Given the description of an element on the screen output the (x, y) to click on. 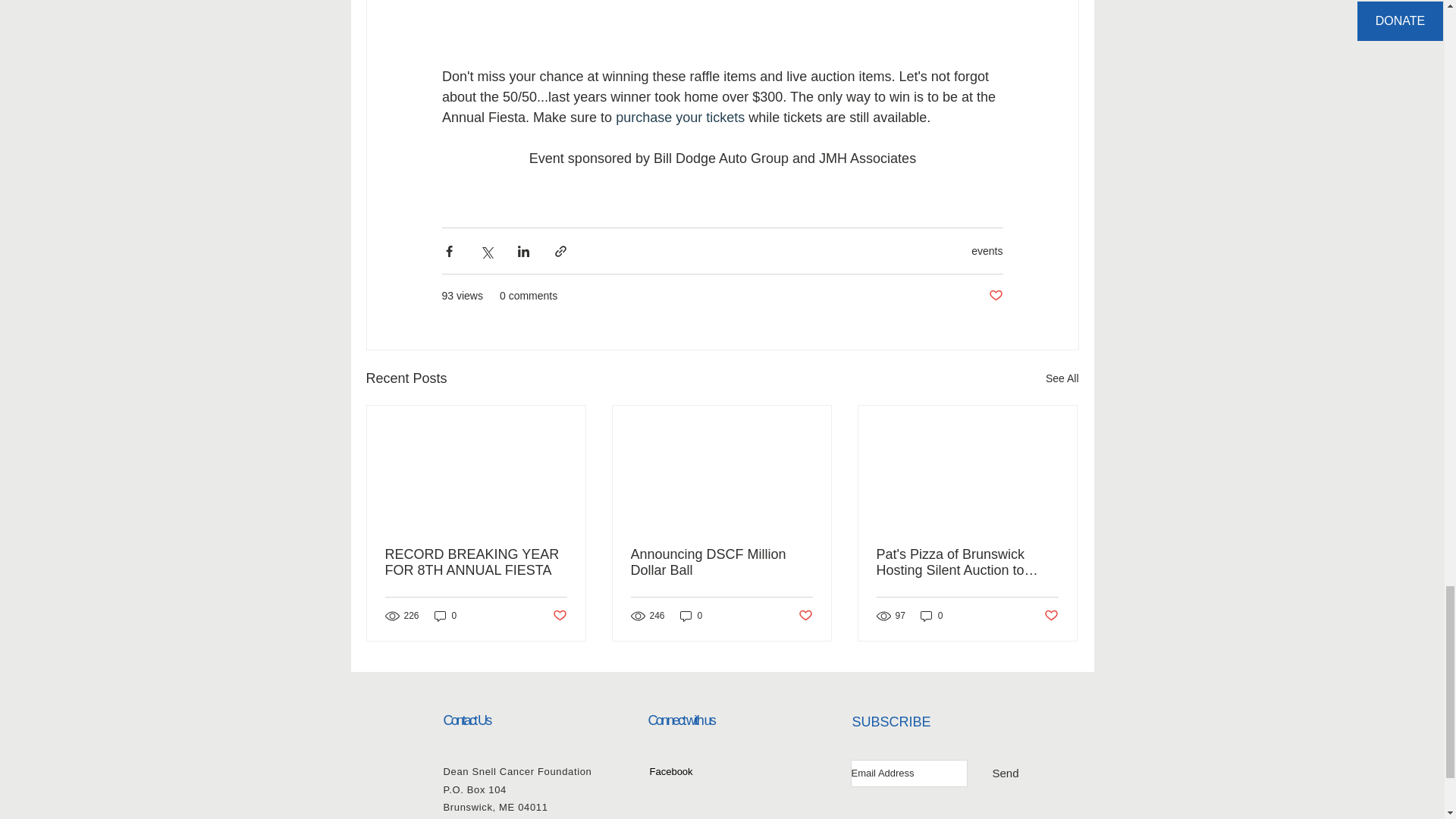
Post not marked as liked (995, 295)
Post not marked as liked (804, 616)
See All (1061, 378)
RECORD BREAKING YEAR FOR 8TH ANNUAL FIESTA (476, 562)
purchase your tickets (679, 117)
Post not marked as liked (558, 616)
events (987, 250)
0 (931, 616)
0 (445, 616)
Announcing DSCF Million Dollar Ball (721, 562)
0 (691, 616)
